Given the description of an element on the screen output the (x, y) to click on. 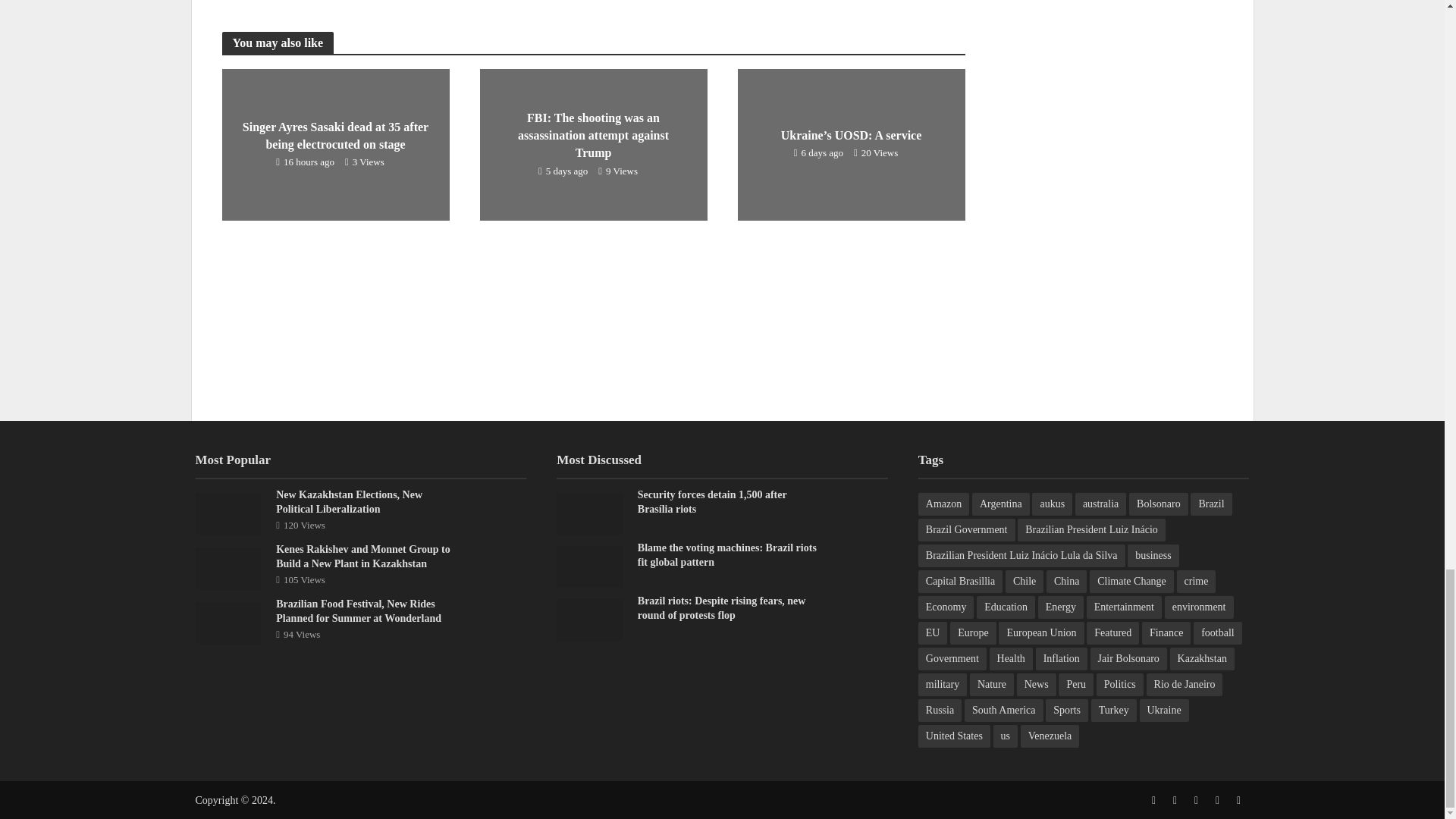
FBI: The shooting was an assassination attempt against Trump (592, 143)
New Kazakhstan Elections, New Political Liberalization (228, 512)
